Given the description of an element on the screen output the (x, y) to click on. 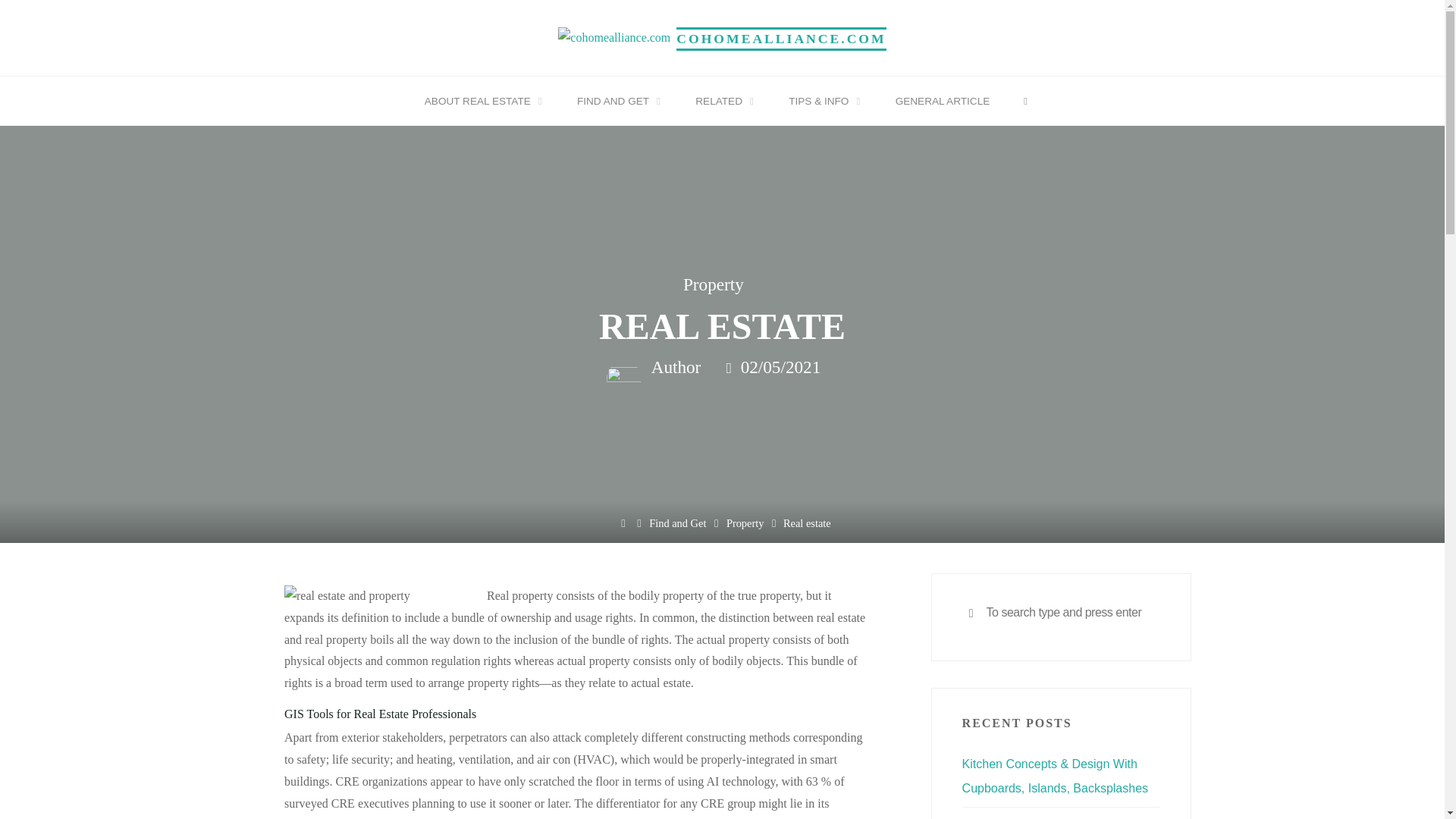
COHOMEALLIANCE.COM (781, 38)
FIND AND GET (615, 101)
cohomealliance.com (613, 36)
Find Your Ideal Home (781, 38)
Home (621, 522)
View all posts by Author (673, 367)
Date (729, 367)
ABOUT REAL ESTATE (480, 101)
